Given the description of an element on the screen output the (x, y) to click on. 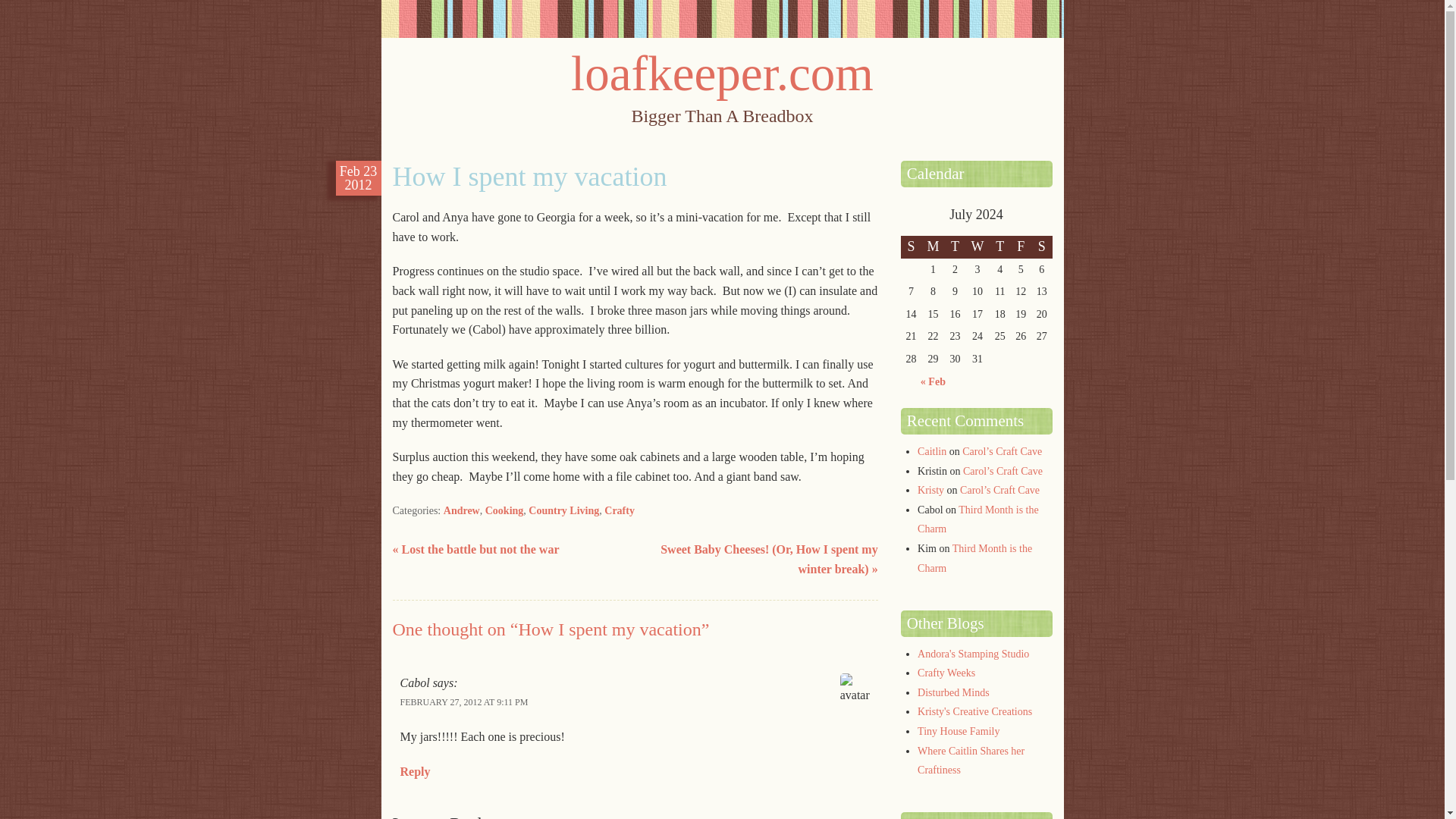
loafkeeper.com (721, 72)
Skip to content (433, 155)
Cooking (504, 510)
Disturbed Minds (953, 692)
Saturday (1041, 246)
Crafty Weeks (946, 672)
Caitlin (931, 451)
Skip to content (433, 155)
Tiny House Family (957, 731)
Reply (415, 771)
Crafty (619, 510)
loafkeeper.com (721, 72)
FEBRUARY 27, 2012 AT 9:11 PM (464, 701)
Andora's Stamping Studio (973, 654)
Kristy (930, 490)
